Given the description of an element on the screen output the (x, y) to click on. 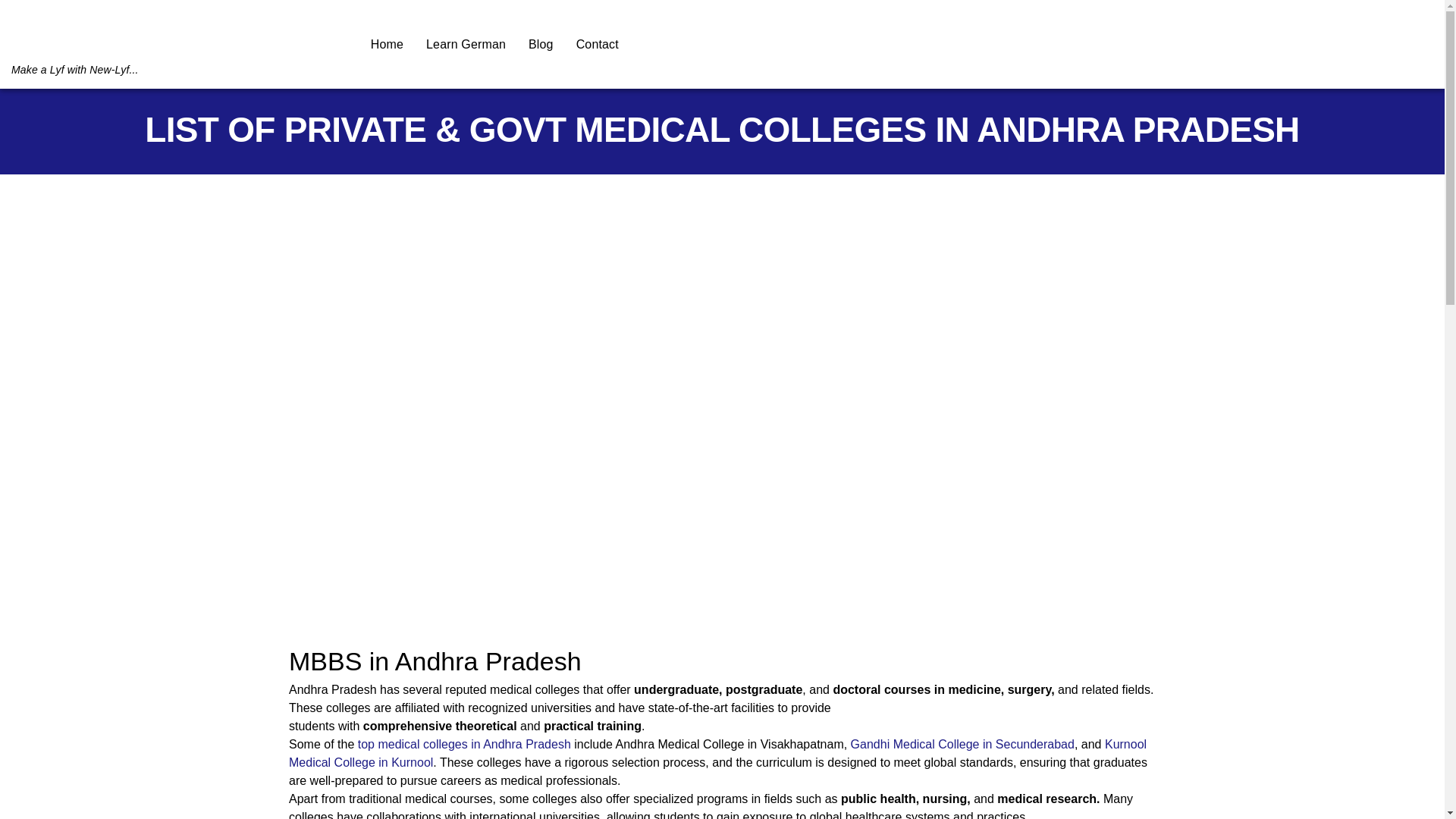
Kurnool Medical College in Kurnool (717, 753)
top medical colleges in Andhra Pradesh (464, 744)
Learn German (473, 44)
Home (394, 44)
Gandhi Medical College in Secunderabad (962, 744)
Contact (604, 44)
Blog (548, 44)
Make a Lyf with New-Lyf... (188, 60)
